Given the description of an element on the screen output the (x, y) to click on. 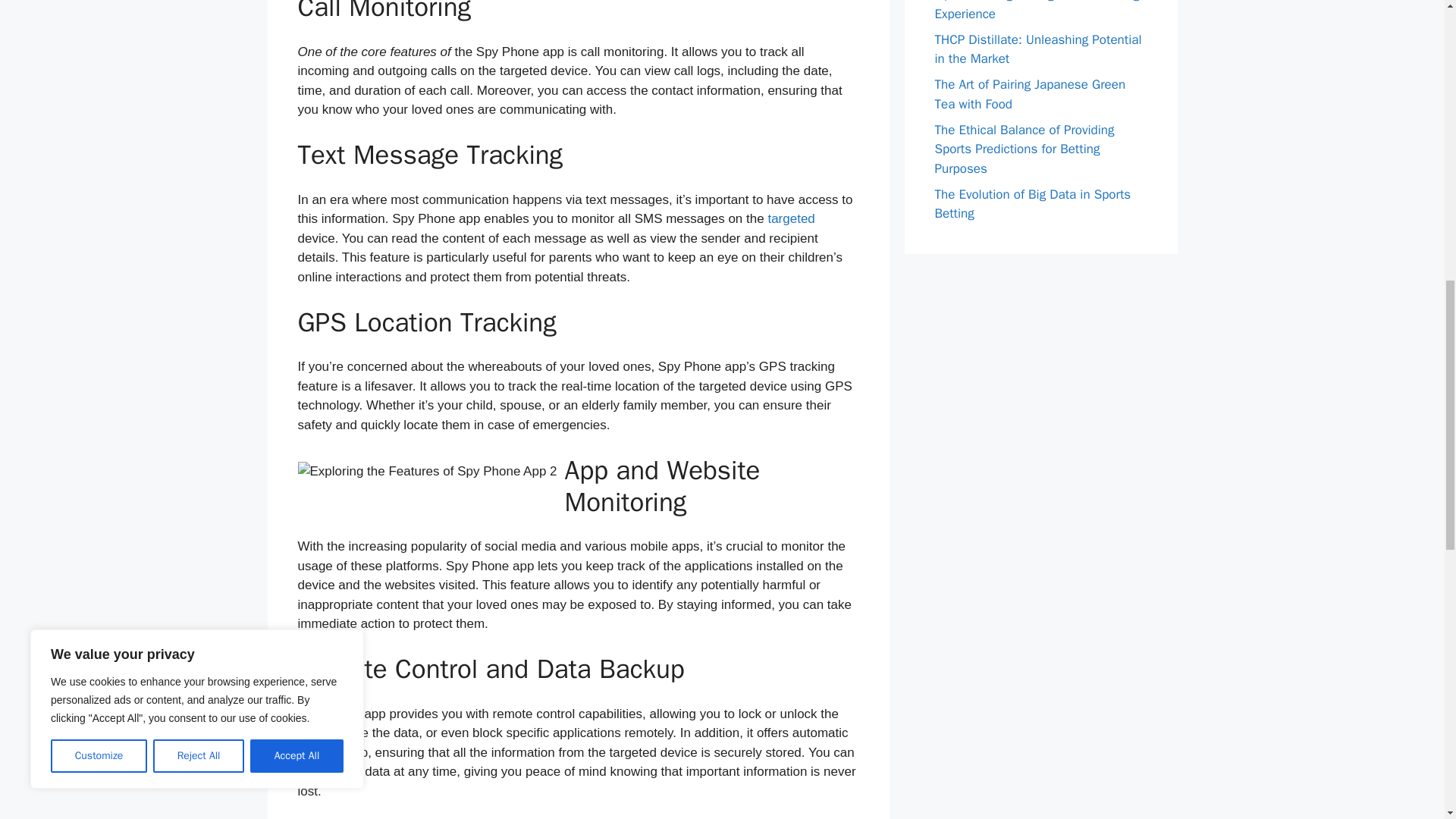
targeted (790, 218)
